Given the description of an element on the screen output the (x, y) to click on. 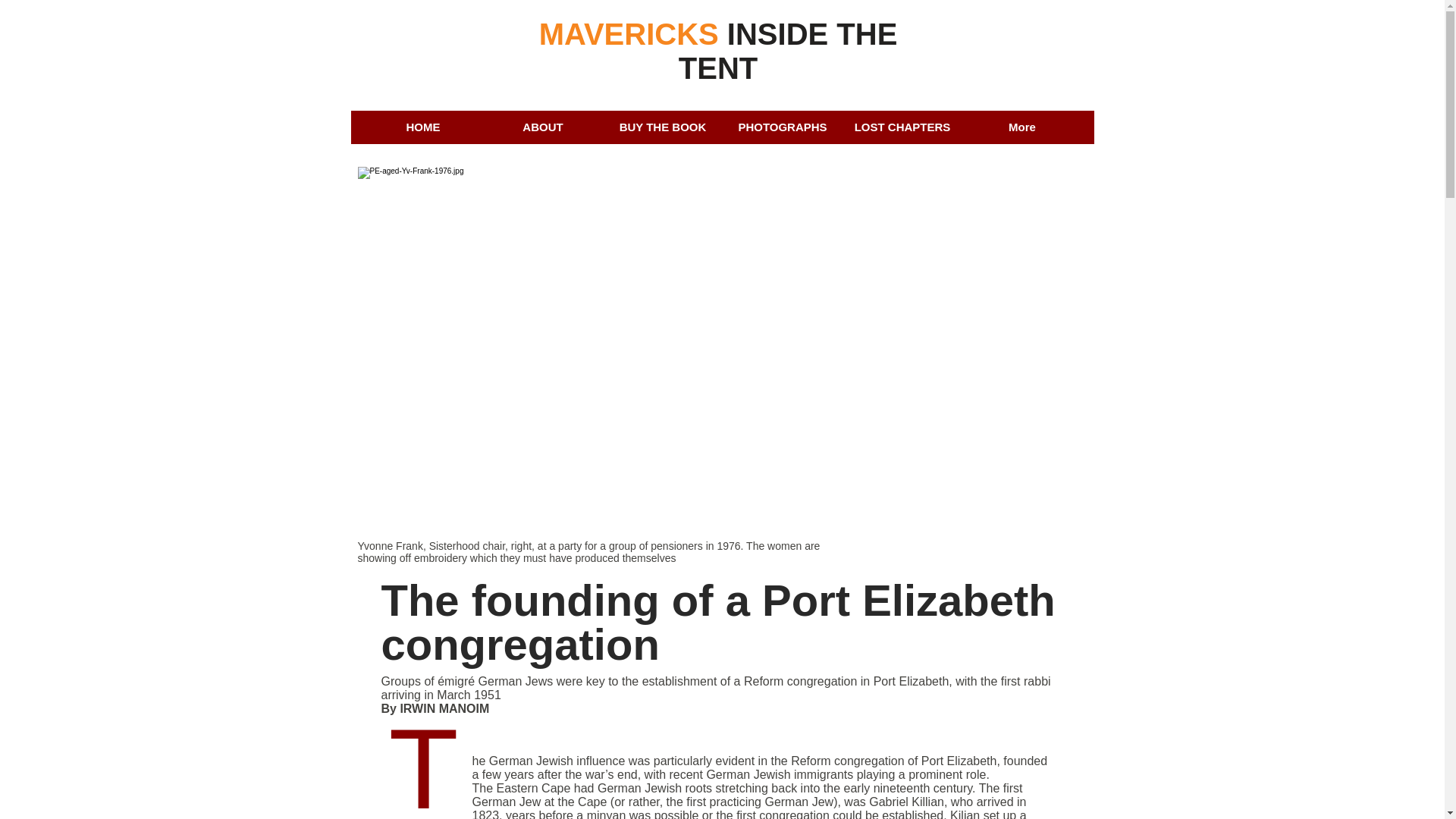
PHOTOGRAPHS (781, 127)
LOST CHAPTERS (900, 127)
BUY THE BOOK (662, 127)
ABOUT (541, 127)
HOME (421, 127)
MAVERICKS INSIDE THE TENT (718, 51)
